Given the description of an element on the screen output the (x, y) to click on. 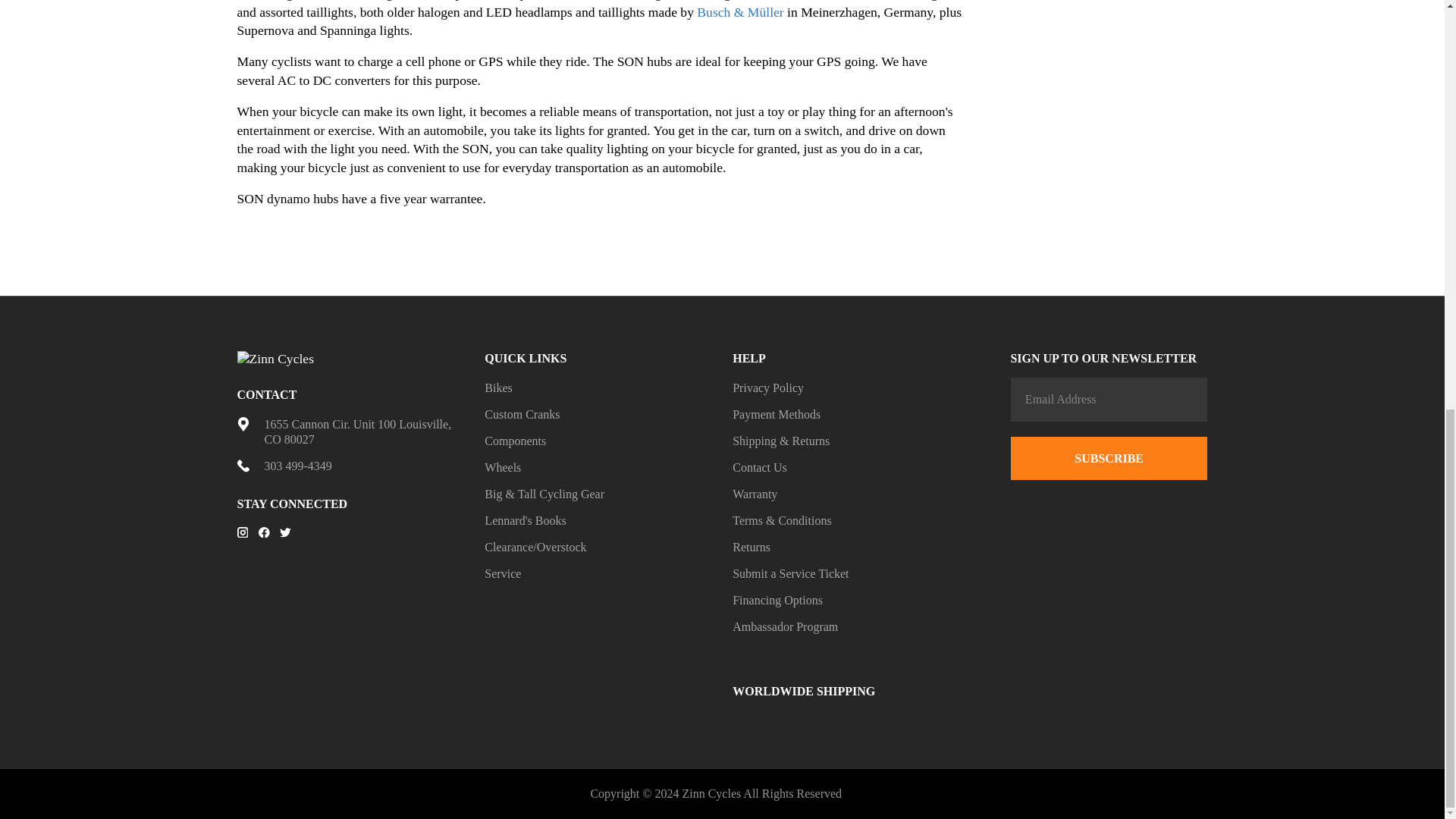
Bikes (498, 387)
Lennard's Books (525, 520)
Wheels (502, 467)
Custom Cranks (521, 413)
Components (515, 440)
